Given the description of an element on the screen output the (x, y) to click on. 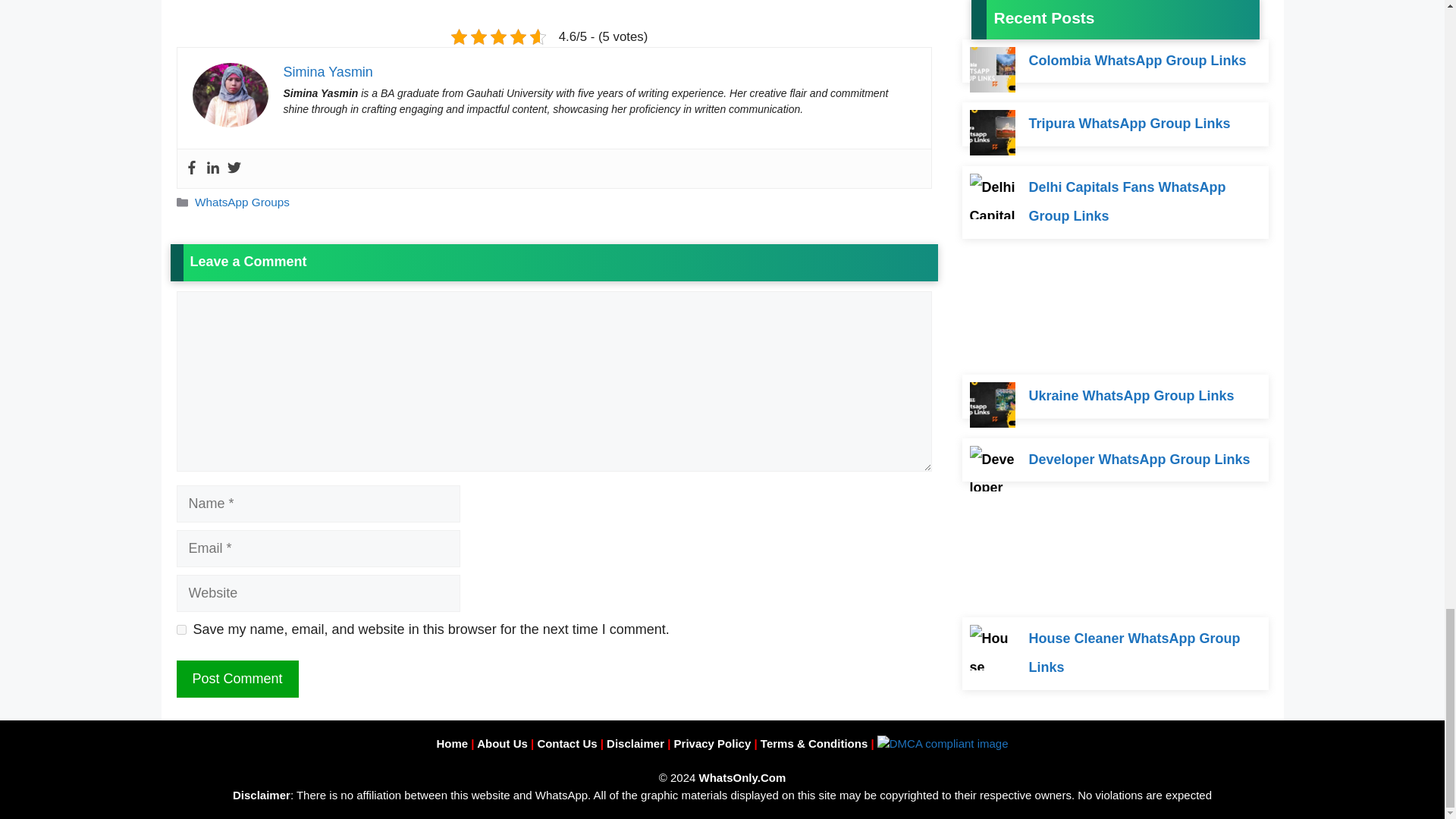
Simina Yasmin (327, 71)
yes (181, 629)
Post Comment (237, 678)
Post Comment (237, 678)
WhatsApp Groups (242, 201)
DMCA Compliance information for telegrmlink.com (943, 743)
